Given the description of an element on the screen output the (x, y) to click on. 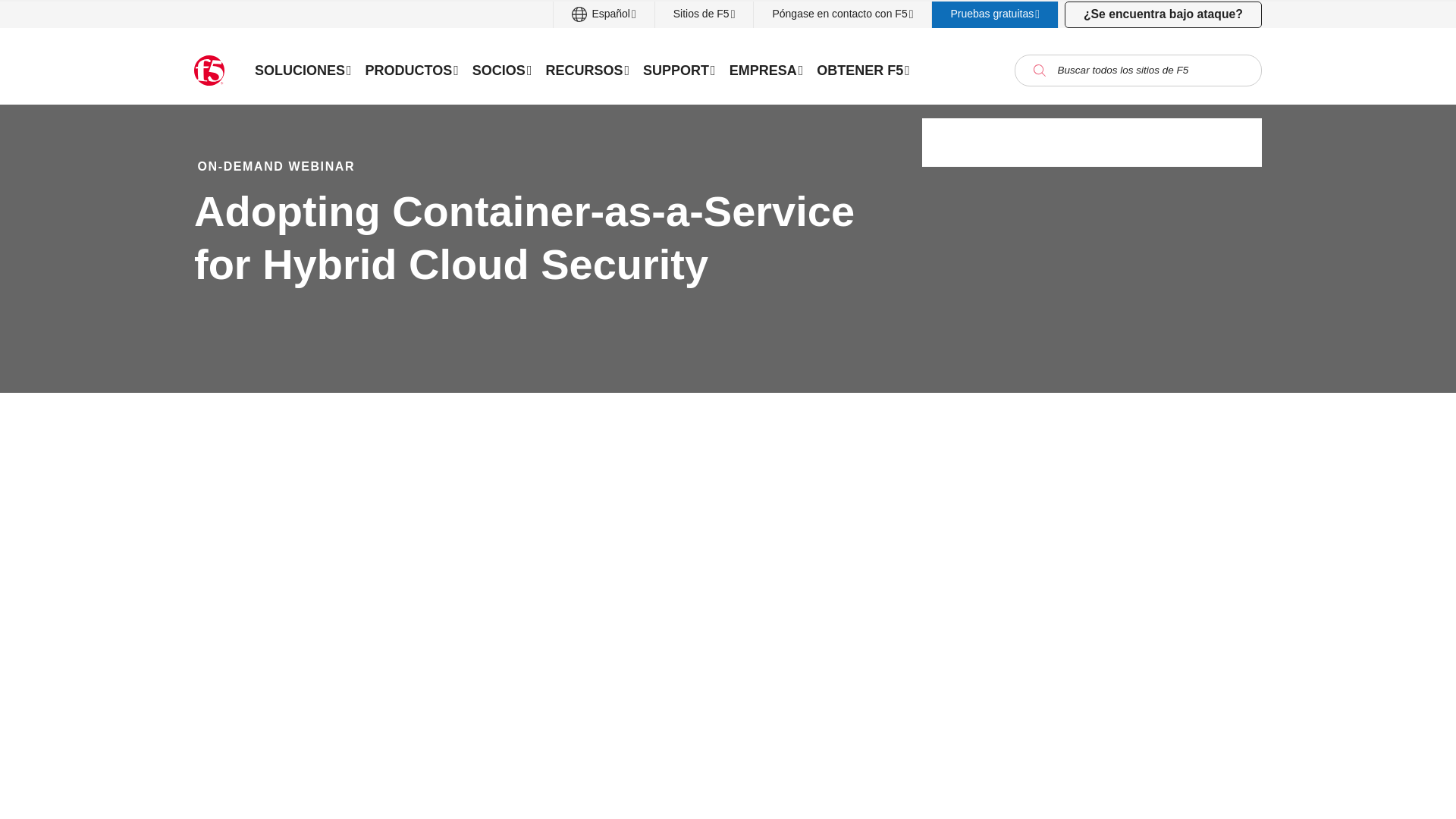
PRODUCTOS (411, 69)
SUPPORT (679, 69)
SOLUCIONES (302, 69)
Sitios de F5 (704, 13)
F5 (208, 70)
EMPRESA (766, 69)
Pruebas gratuitas (994, 13)
SOCIOS (501, 69)
RECURSOS (587, 69)
OBTENER F5 (863, 69)
